Given the description of an element on the screen output the (x, y) to click on. 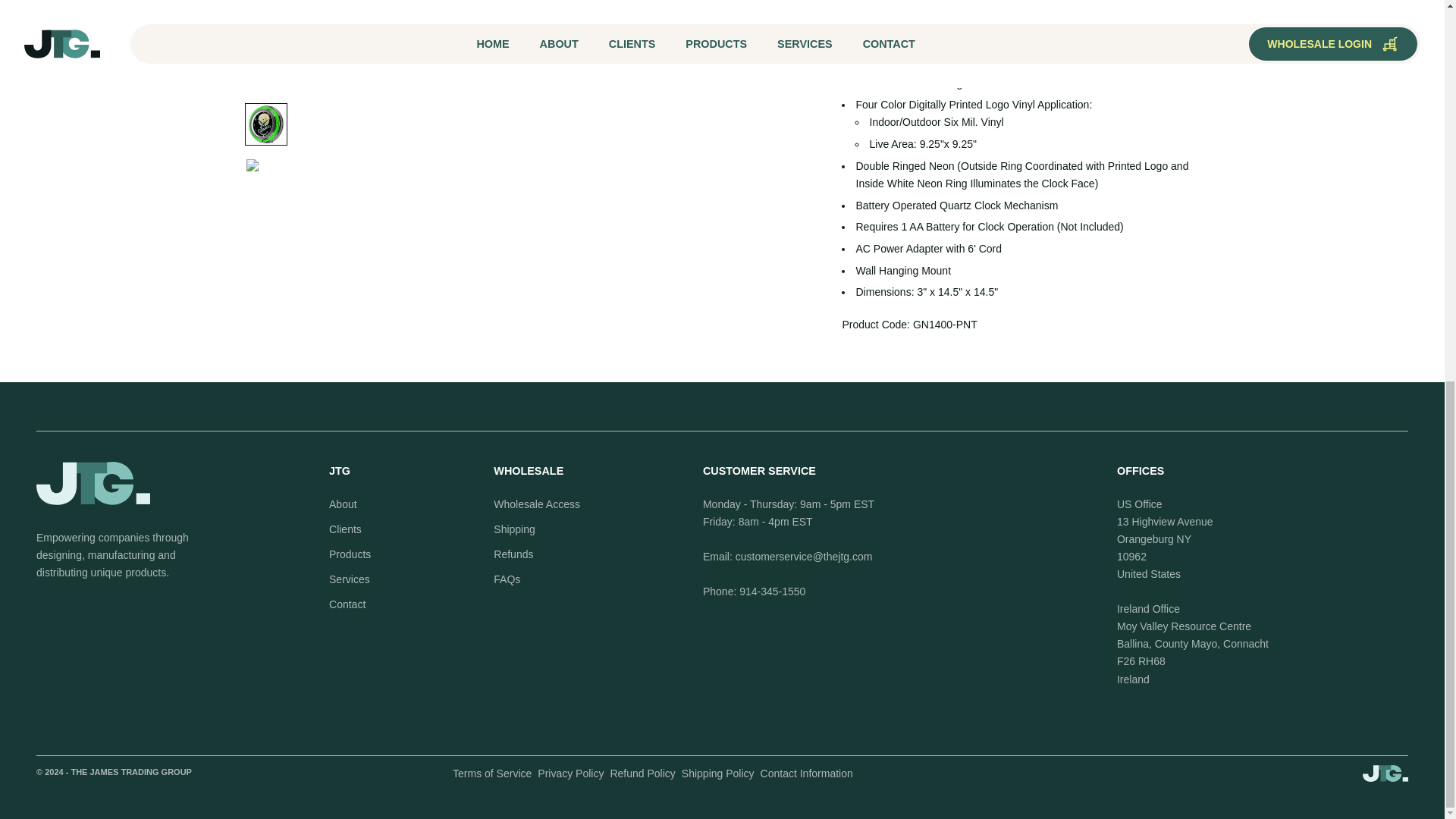
Refund Policy (642, 773)
Clients (345, 529)
Services (349, 579)
Shipping Policy (717, 773)
FAQs (506, 579)
Products (350, 553)
Privacy Policy (570, 773)
Terms of Service (491, 773)
Shipping (514, 529)
Refunds (512, 553)
Wholesale Access (536, 503)
Contact (347, 604)
About (342, 503)
